Given the description of an element on the screen output the (x, y) to click on. 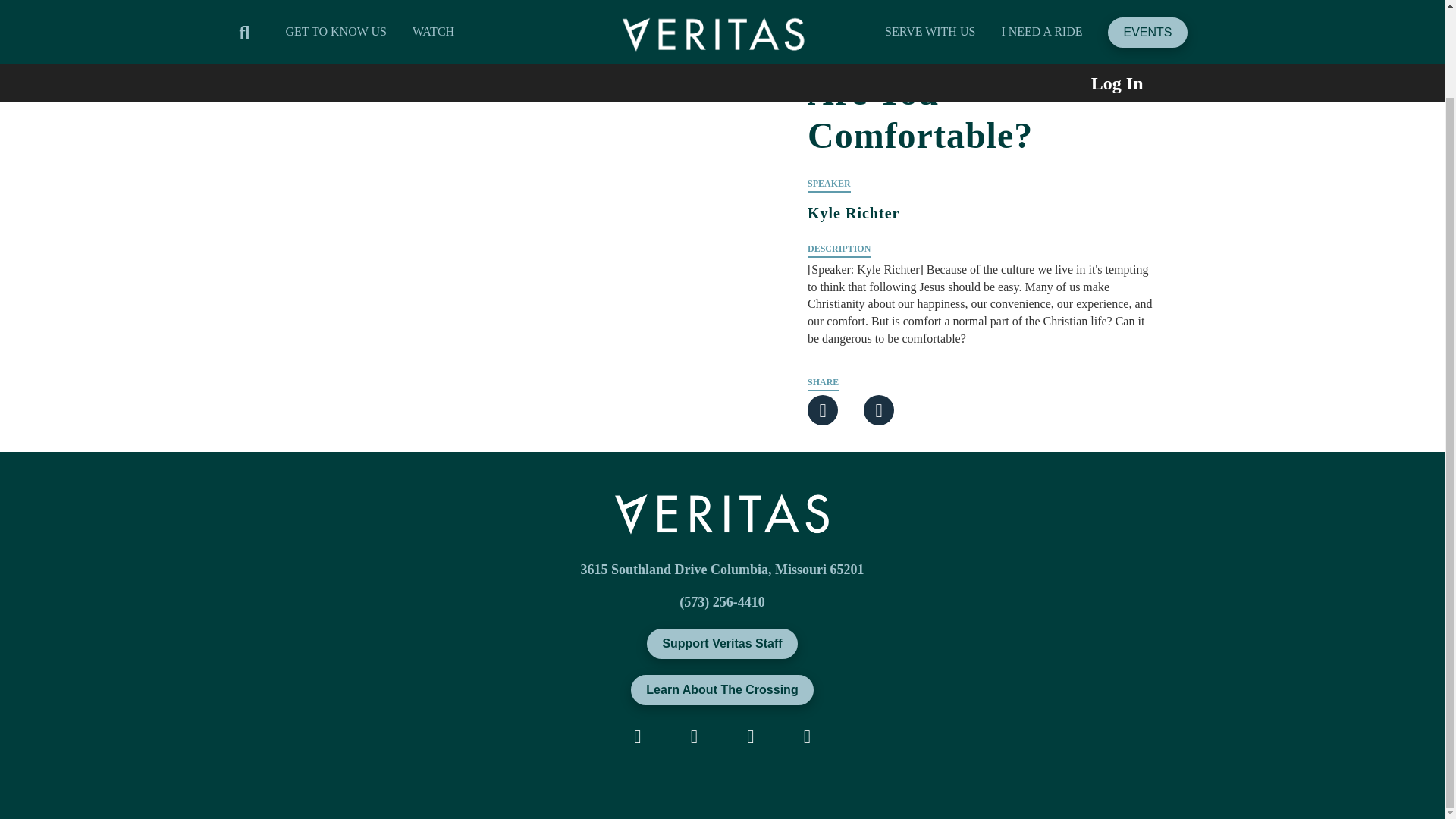
Messages (376, 16)
Veritas (319, 16)
Kyle Richter (981, 233)
3615 Southland Drive Columbia, Missouri 65201 (721, 569)
Log In (1093, 1)
Support Veritas Staff (721, 643)
Learn About The Crossing (721, 689)
